Given the description of an element on the screen output the (x, y) to click on. 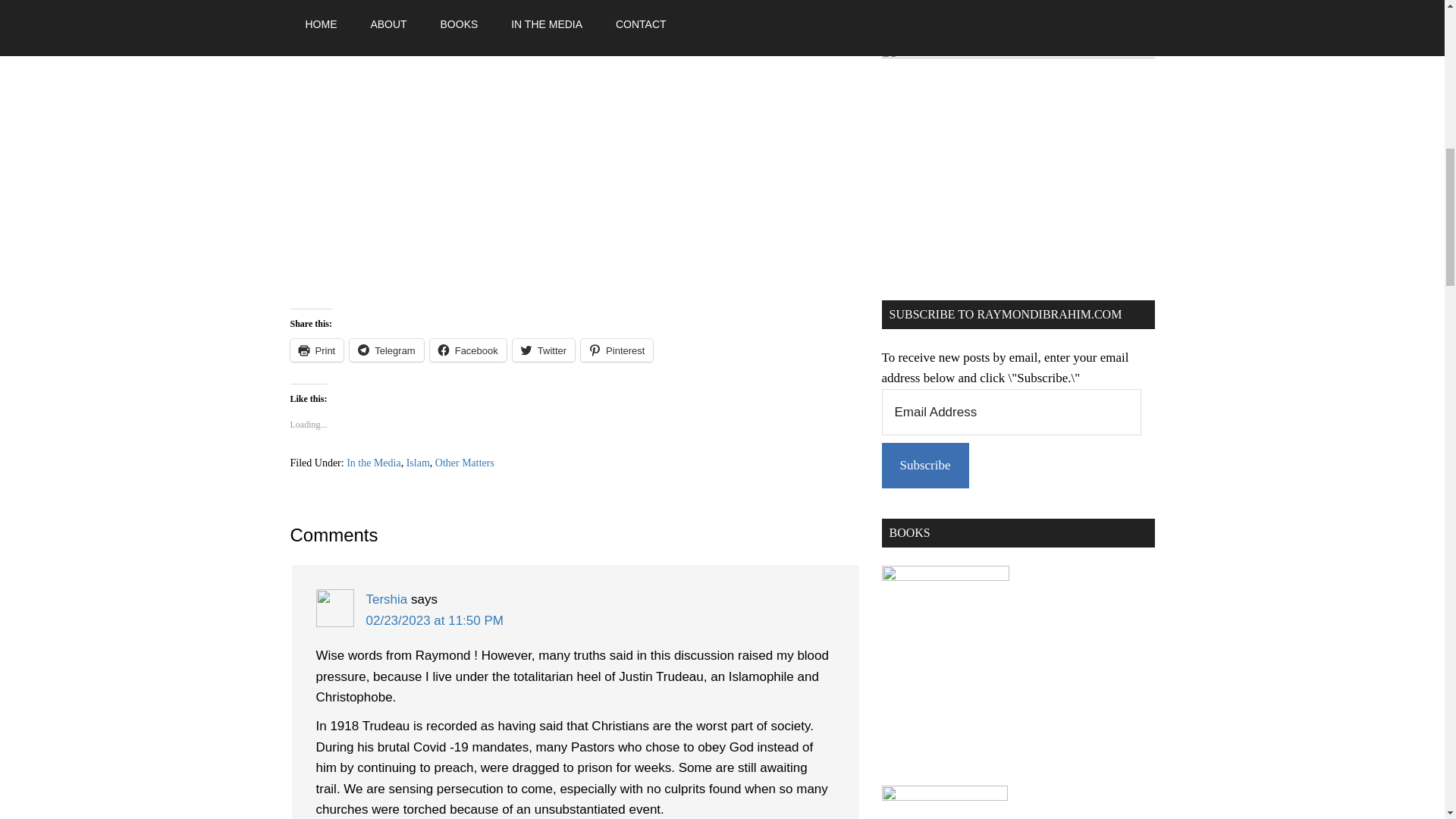
Other Matters (465, 462)
Islam (417, 462)
Telegram (386, 350)
Pinterest (616, 350)
Click to print (316, 350)
YouTube video player (501, 163)
Click to share on Twitter (543, 350)
Click to share on Telegram (386, 350)
In the Media (373, 462)
Facebook (467, 350)
